Given the description of an element on the screen output the (x, y) to click on. 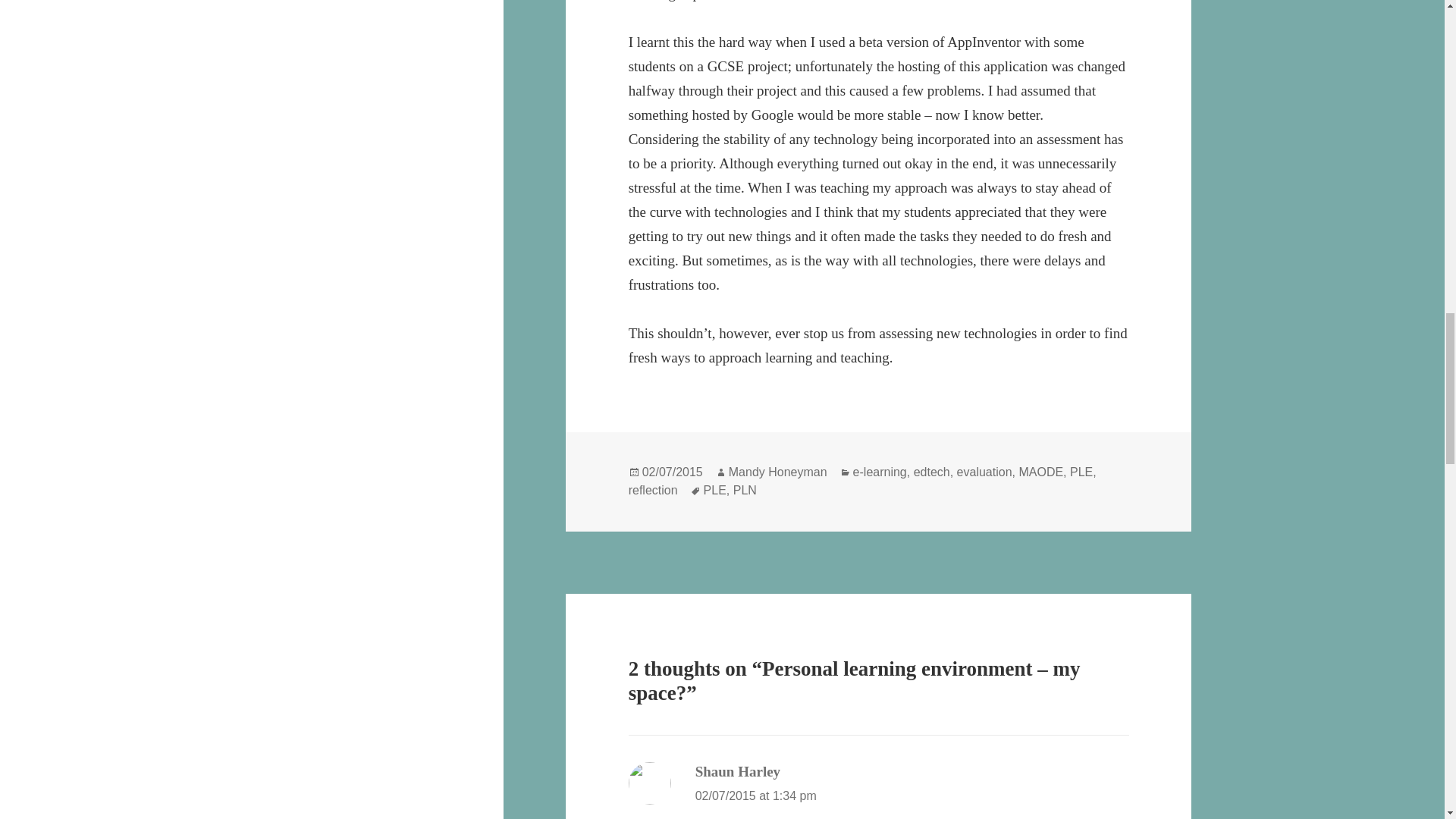
Mandy Honeyman (778, 472)
PLE (714, 490)
MAODE (1039, 472)
PLE (1081, 472)
evaluation (983, 472)
reflection (653, 490)
PLN (745, 490)
edtech (932, 472)
e-learning (880, 472)
